Given the description of an element on the screen output the (x, y) to click on. 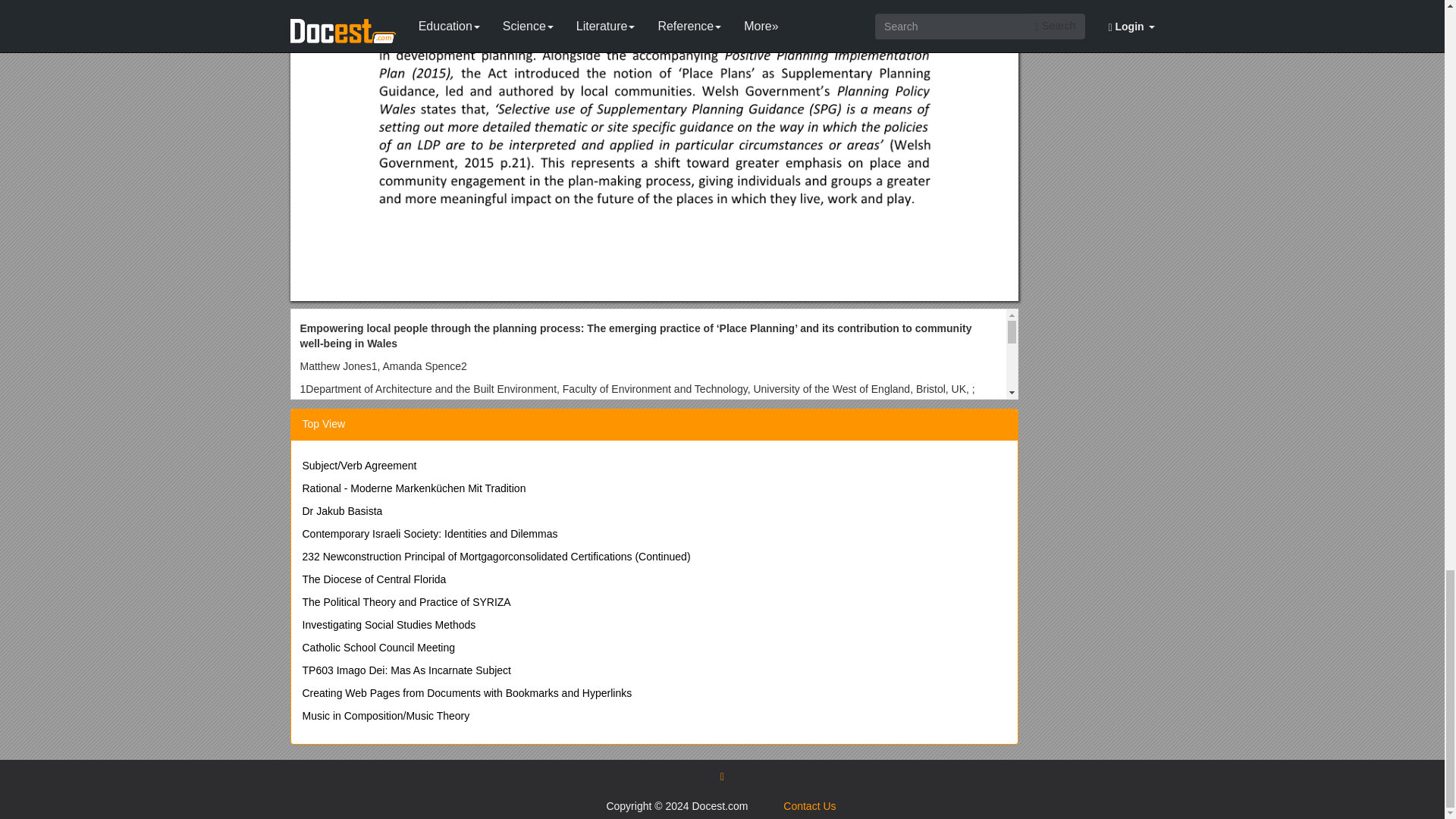
TO TOP (721, 775)
